Given the description of an element on the screen output the (x, y) to click on. 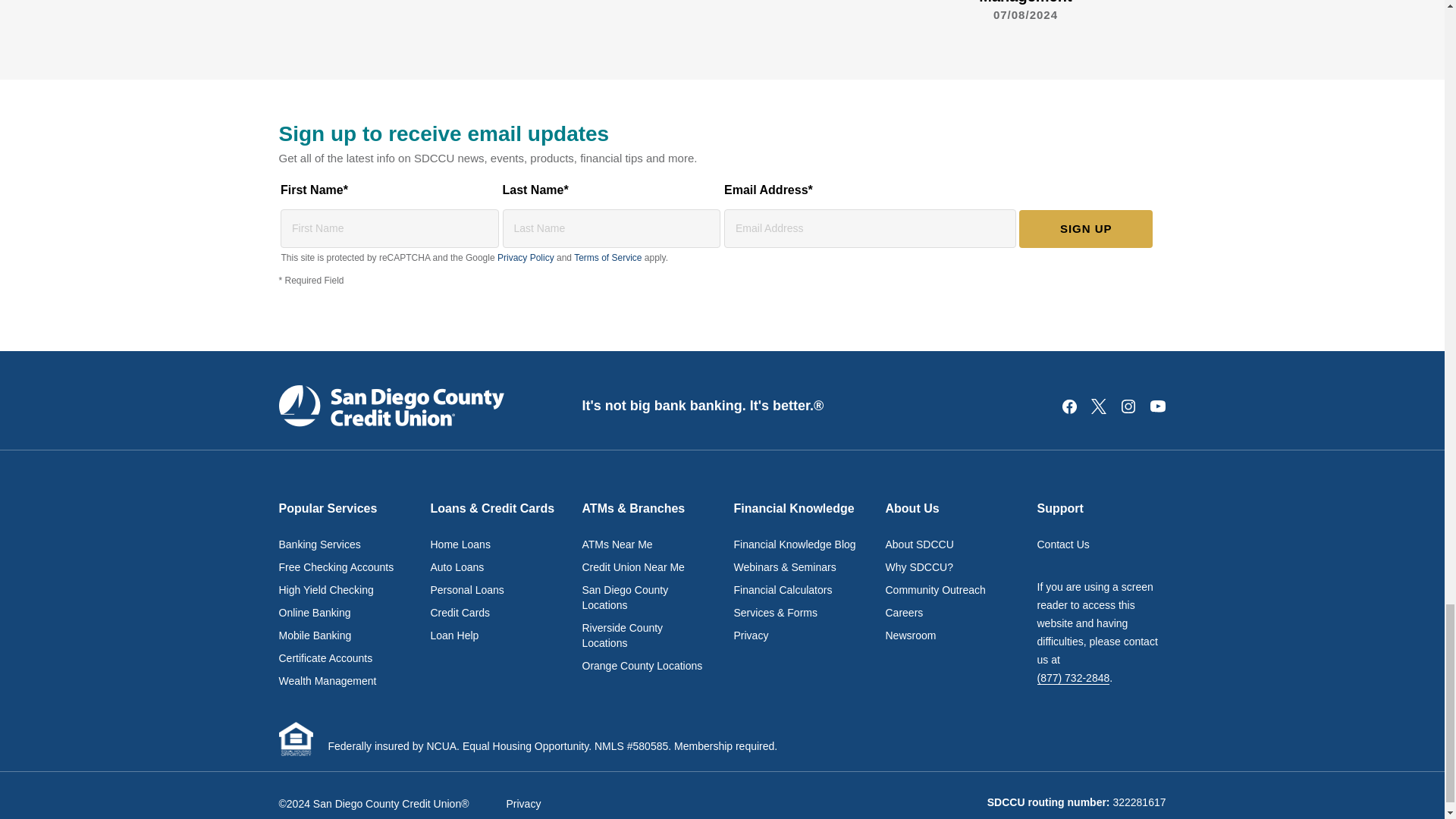
Sign Up (1086, 228)
Phone Number (1072, 677)
Go to San Diego Credit Union homepage (391, 404)
